Given the description of an element on the screen output the (x, y) to click on. 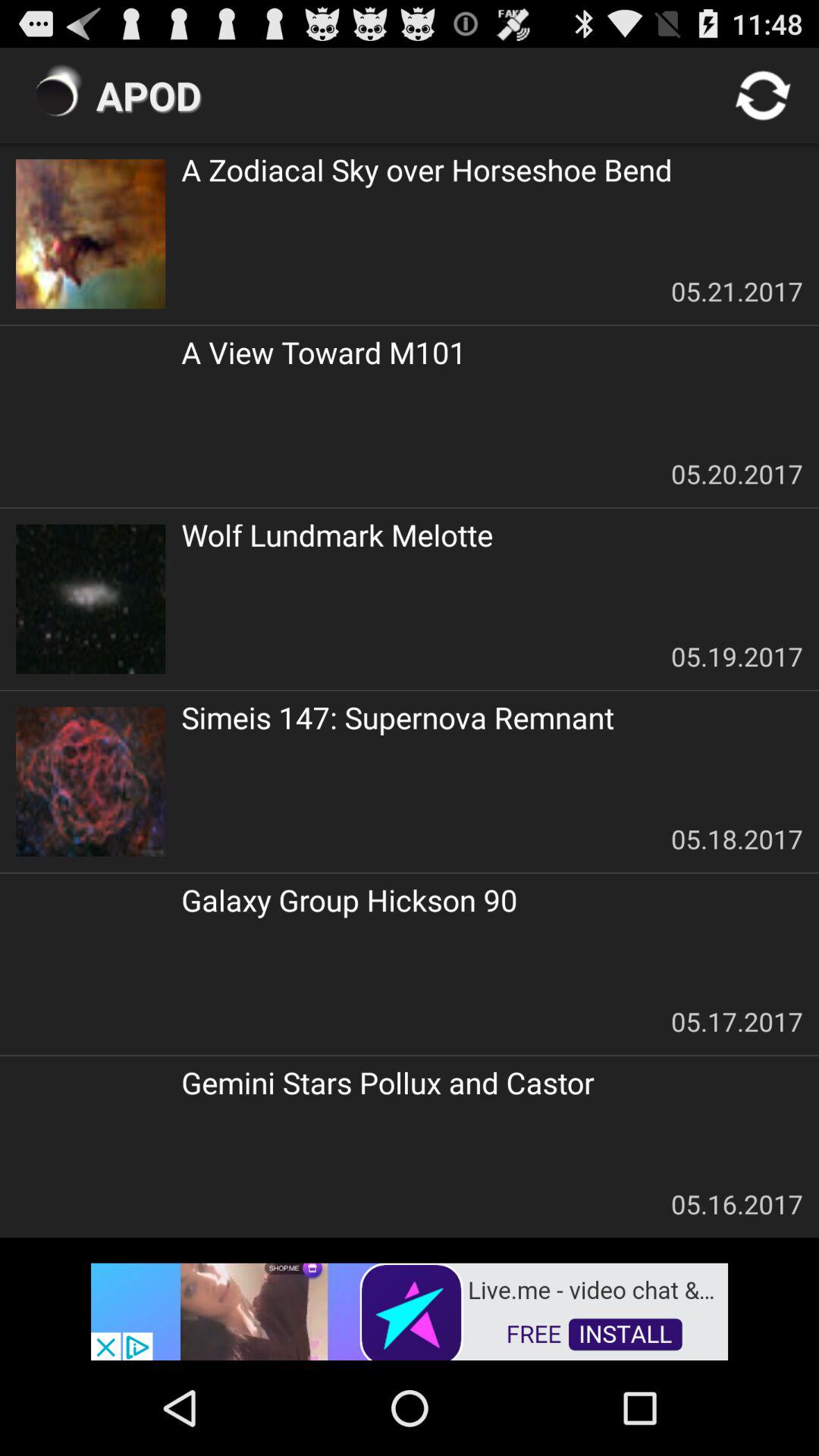
reload (763, 95)
